Given the description of an element on the screen output the (x, y) to click on. 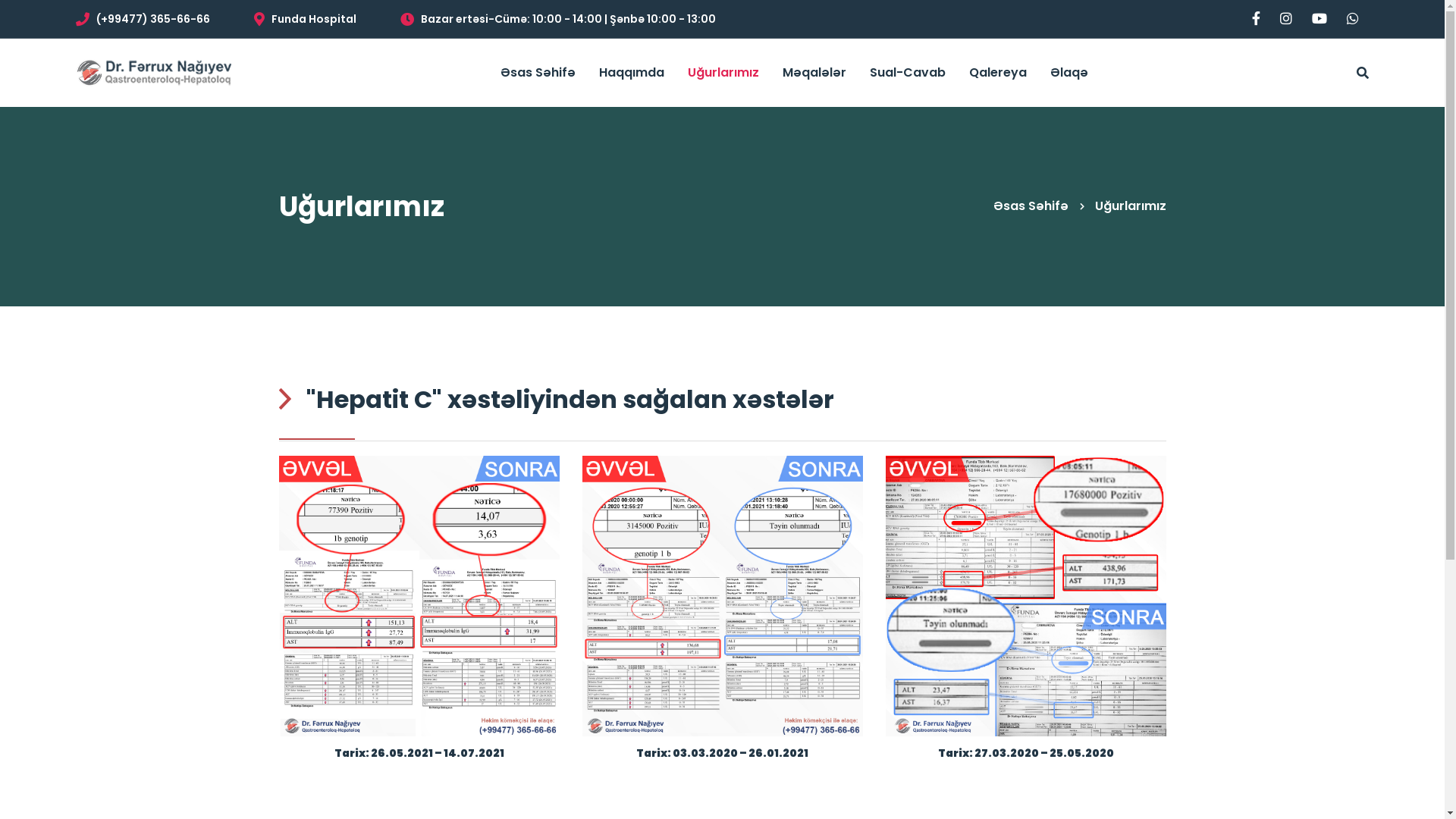
Sual-Cavab Element type: text (906, 72)
Qalereya Element type: text (997, 72)
Funda Hospital Element type: text (305, 17)
(+99477) 365-66-66 Element type: text (142, 17)
